Given the description of an element on the screen output the (x, y) to click on. 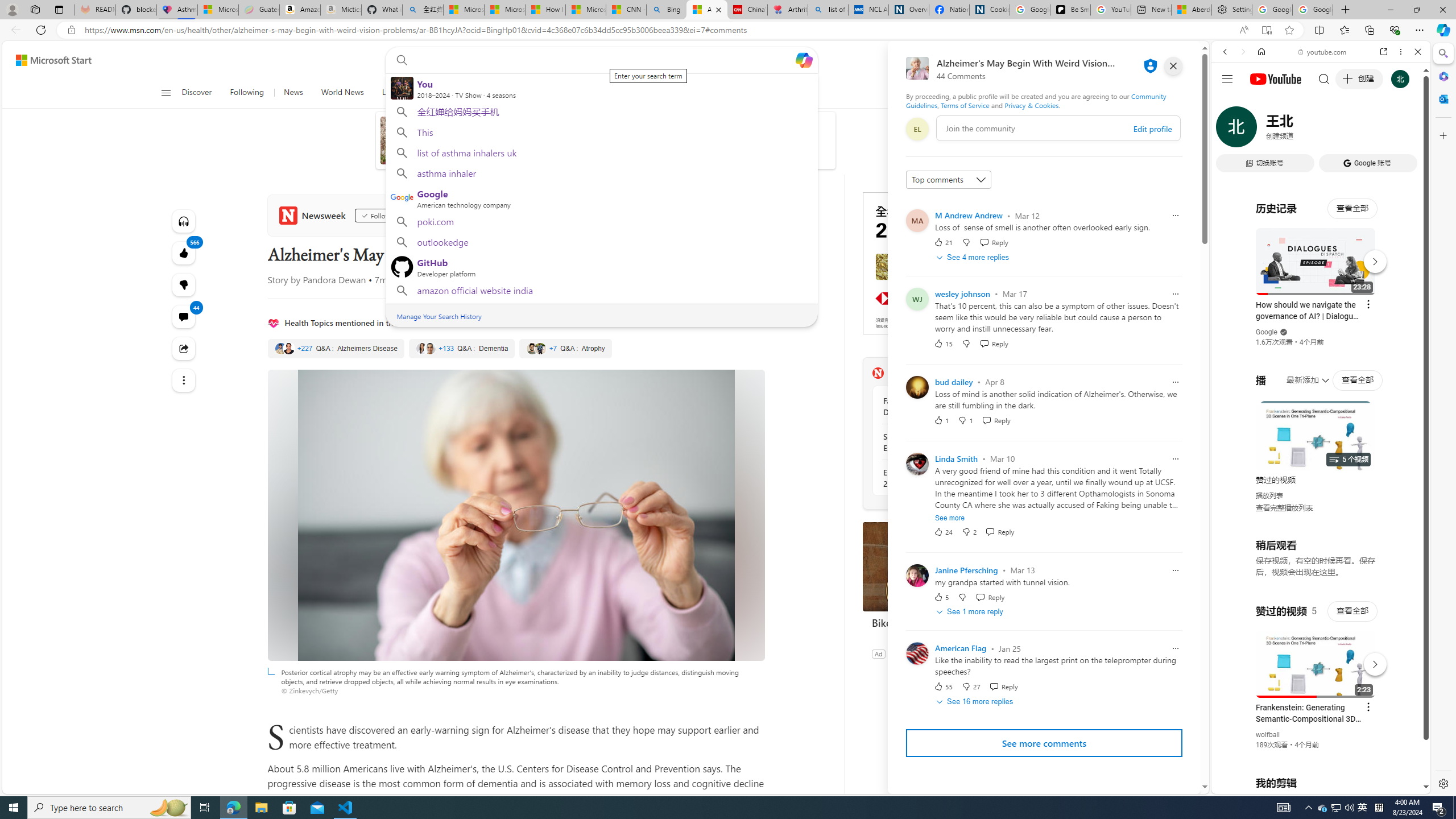
Crime (531, 92)
youtube.com (1322, 51)
This site scope (1259, 102)
Class: quote-thumbnail (540, 348)
Dementia (461, 348)
comment-box (1058, 127)
SEARCH TOOLS (1350, 130)
close (1173, 65)
See 1 more reply (971, 612)
